Given the description of an element on the screen output the (x, y) to click on. 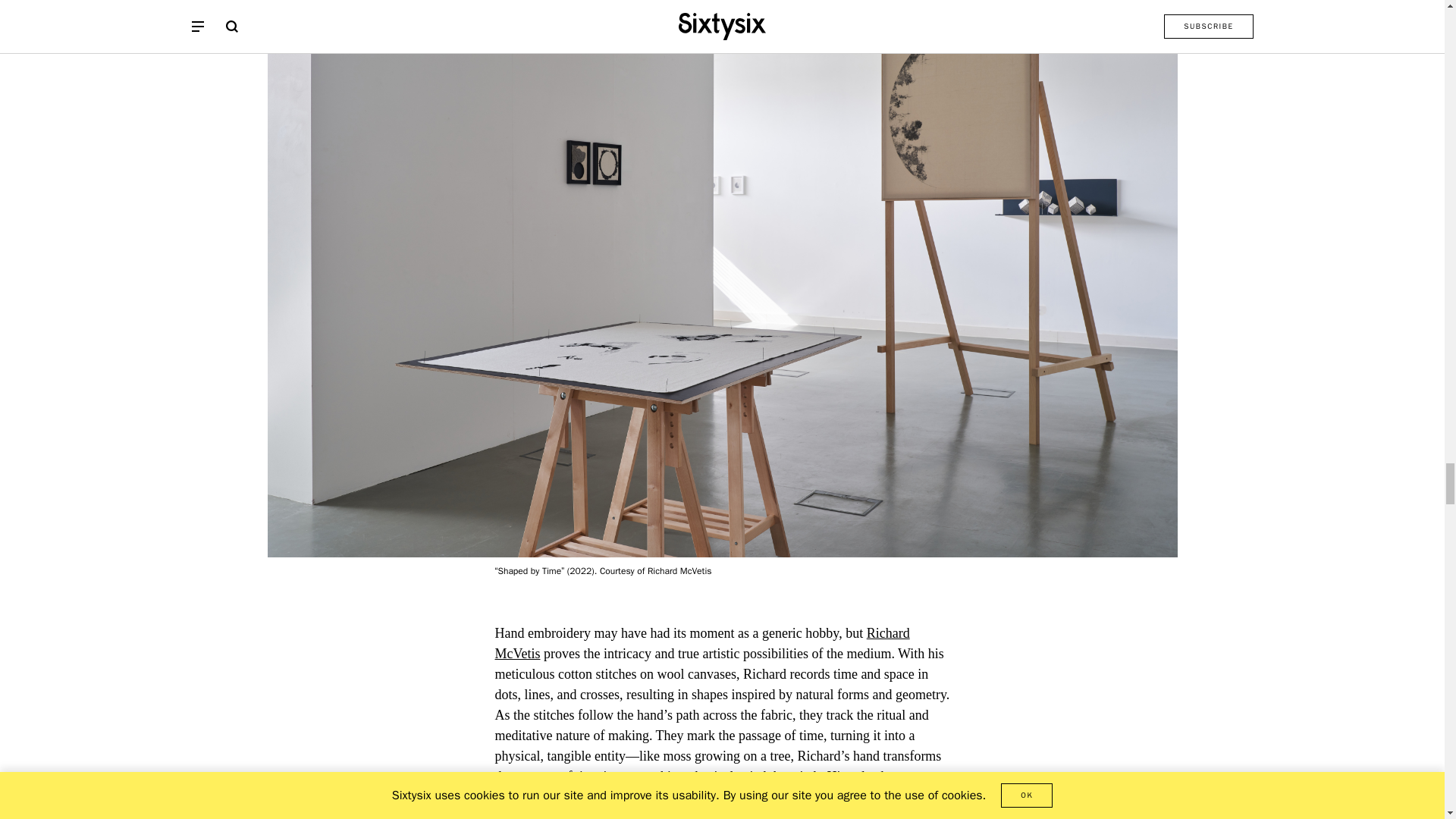
Richard McVetis (701, 642)
Shaped by Time (544, 796)
